Given the description of an element on the screen output the (x, y) to click on. 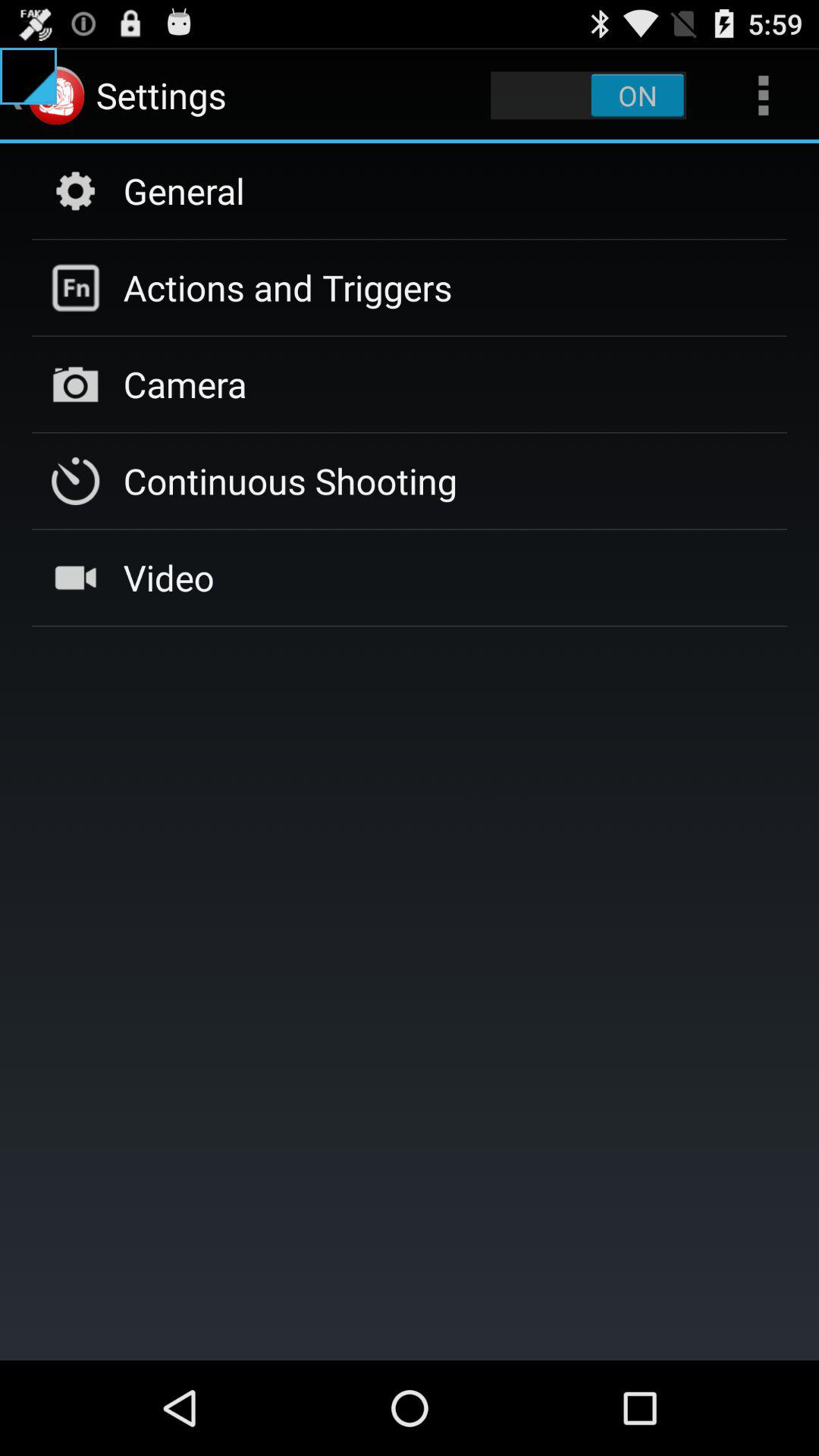
launch icon below the actions and triggers (184, 384)
